Given the description of an element on the screen output the (x, y) to click on. 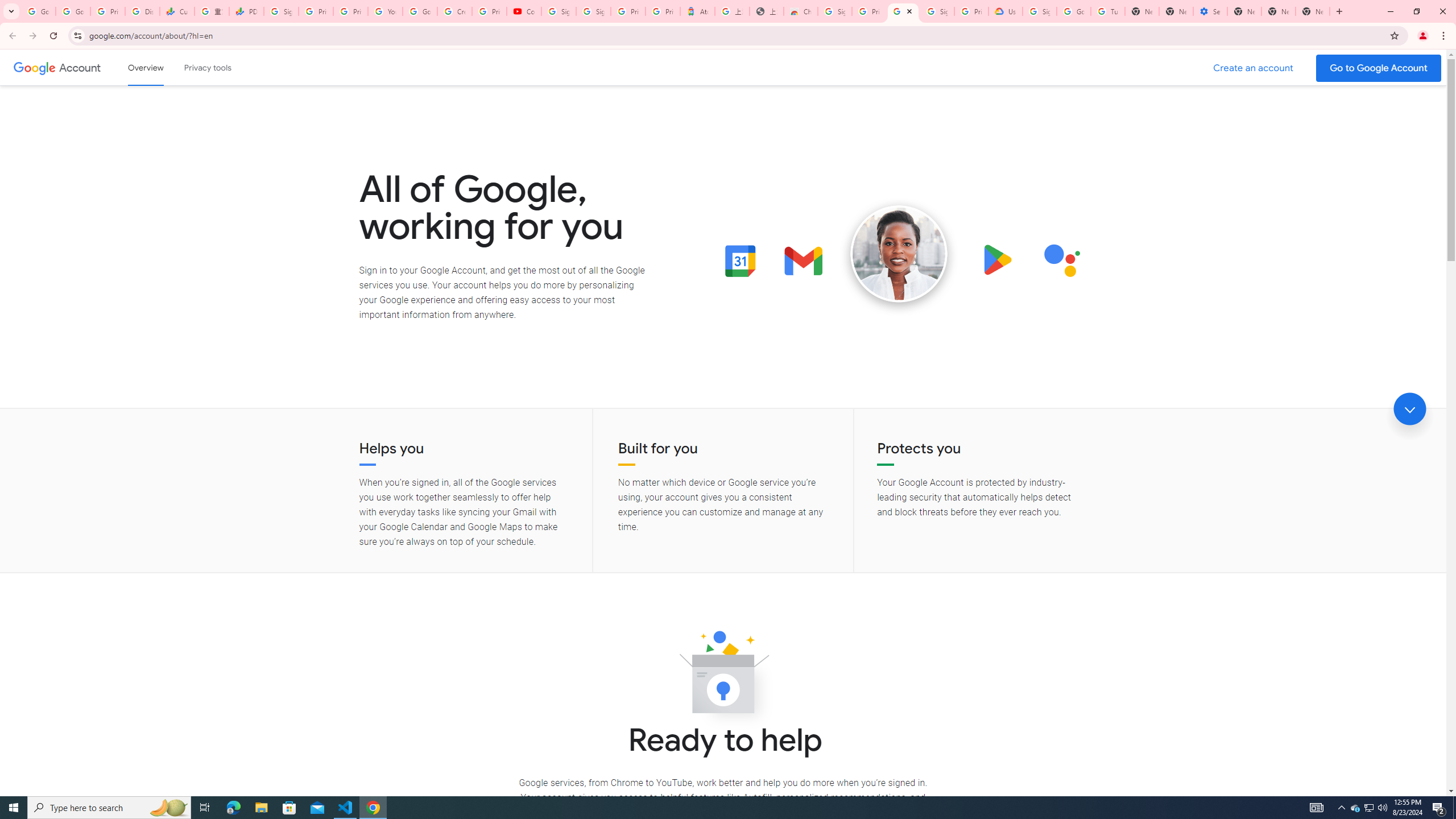
Skip to Content (162, 65)
PDD Holdings Inc - ADR (PDD) Price & News - Google Finance (246, 11)
Jump link (1409, 408)
Settings - System (1209, 11)
Currencies - Google Finance (176, 11)
